Given the description of an element on the screen output the (x, y) to click on. 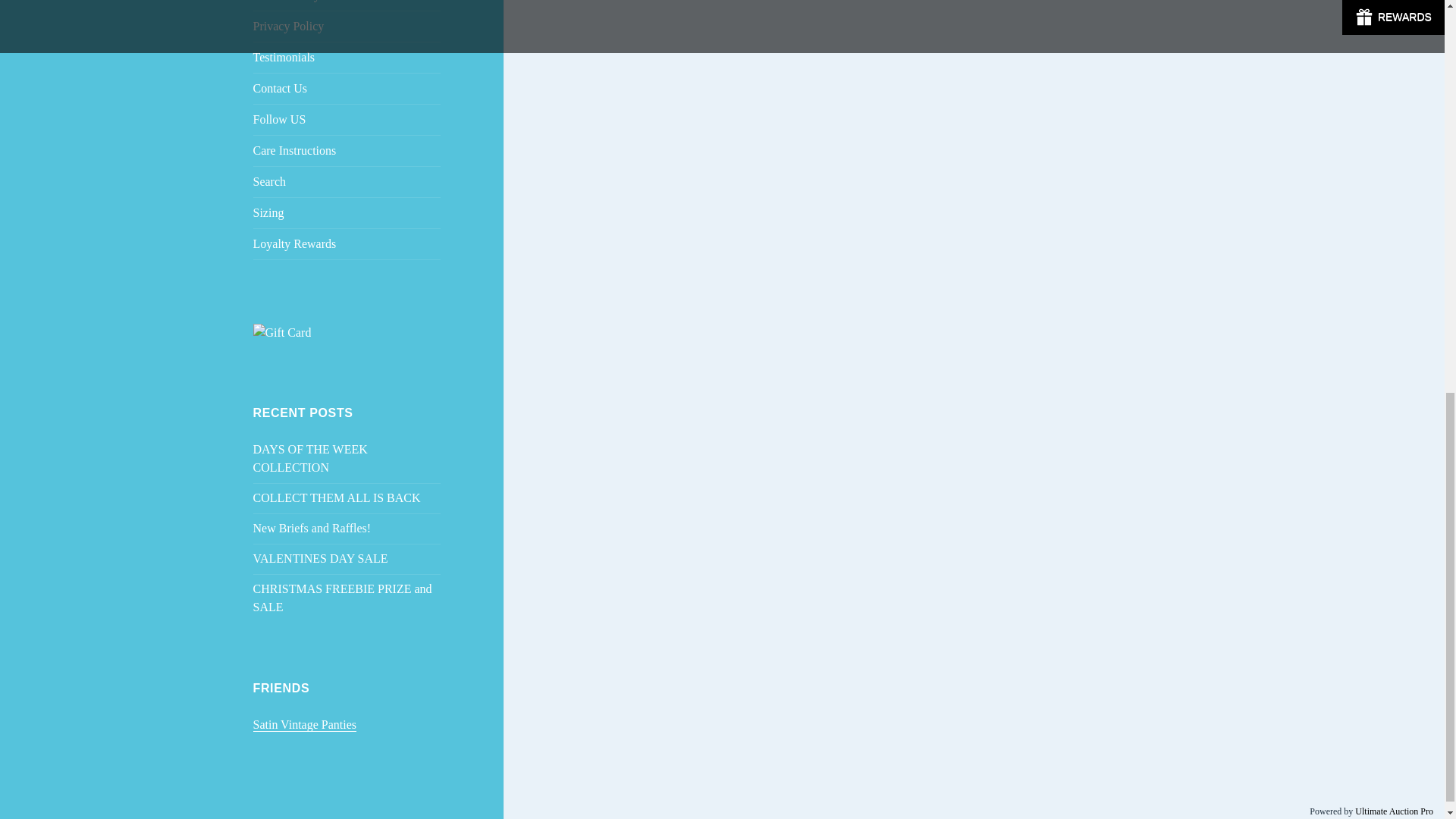
Loyalty Rewards (347, 244)
Testimonials (347, 57)
Return Policy (347, 5)
Care Instructions (347, 150)
Follow US (347, 119)
Contact Us (347, 88)
COLLECT THEM ALL IS BACK (336, 497)
Privacy Policy (347, 26)
New Briefs and Raffles! (312, 527)
Sizing (347, 213)
Search (347, 182)
DAYS OF THE WEEK COLLECTION (310, 458)
